Given the description of an element on the screen output the (x, y) to click on. 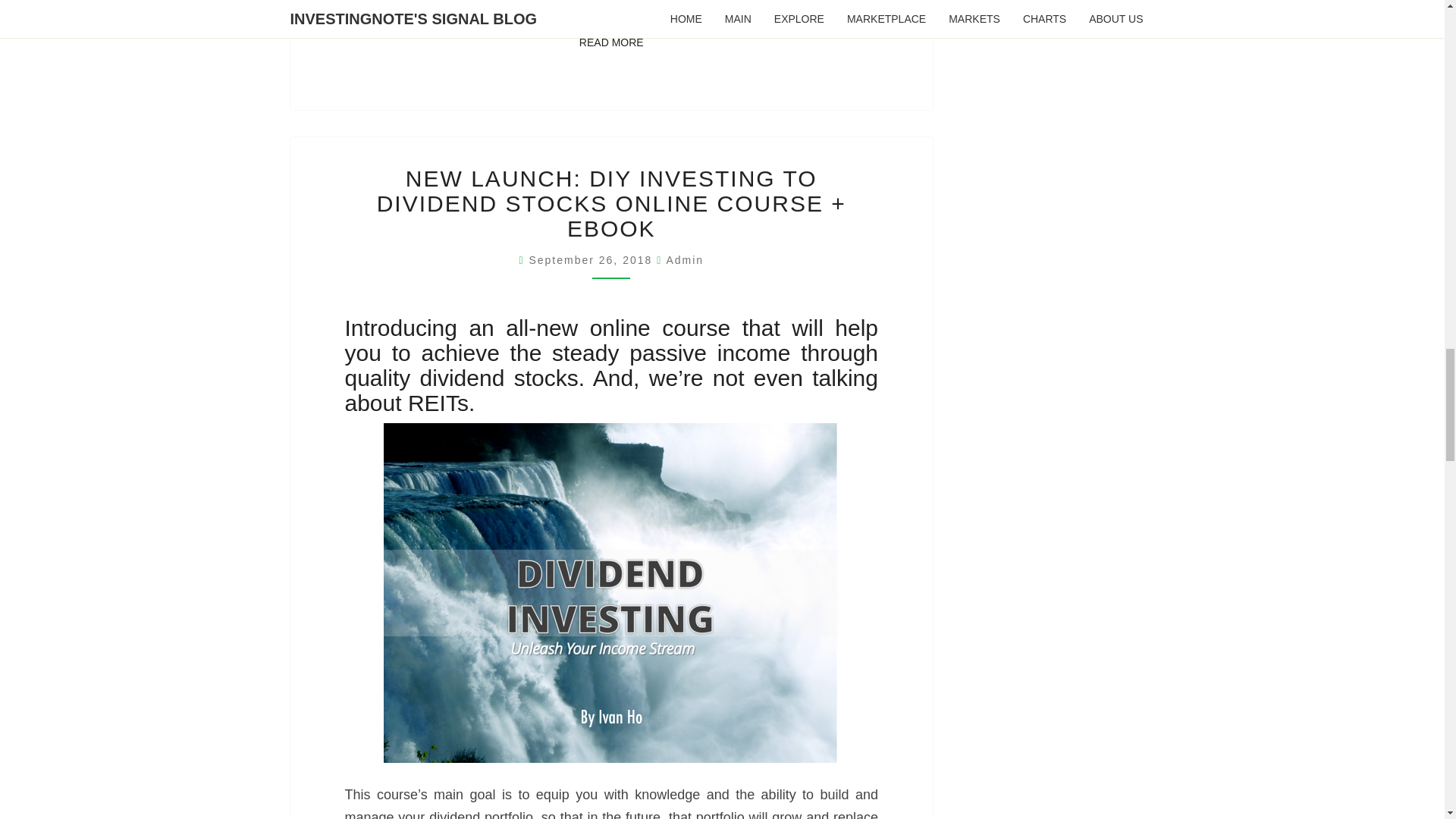
September 26, 2018 (611, 43)
Admin (592, 259)
6:24 pm (684, 259)
View all posts by admin (592, 259)
